Given the description of an element on the screen output the (x, y) to click on. 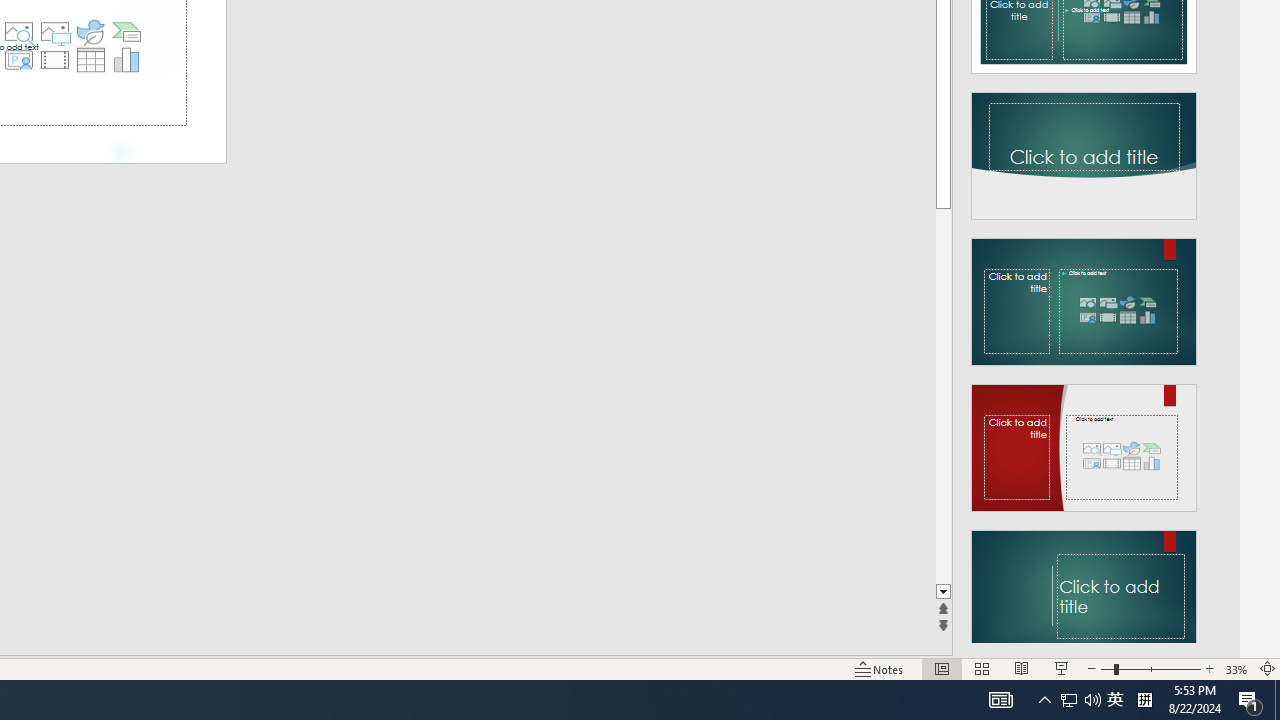
Insert Table (91, 60)
Insert an Icon (91, 32)
Stock Images (18, 32)
Zoom 33% (1236, 668)
Design Idea (1083, 587)
Insert a SmartArt Graphic (127, 32)
Insert Cameo (18, 60)
